Given the description of an element on the screen output the (x, y) to click on. 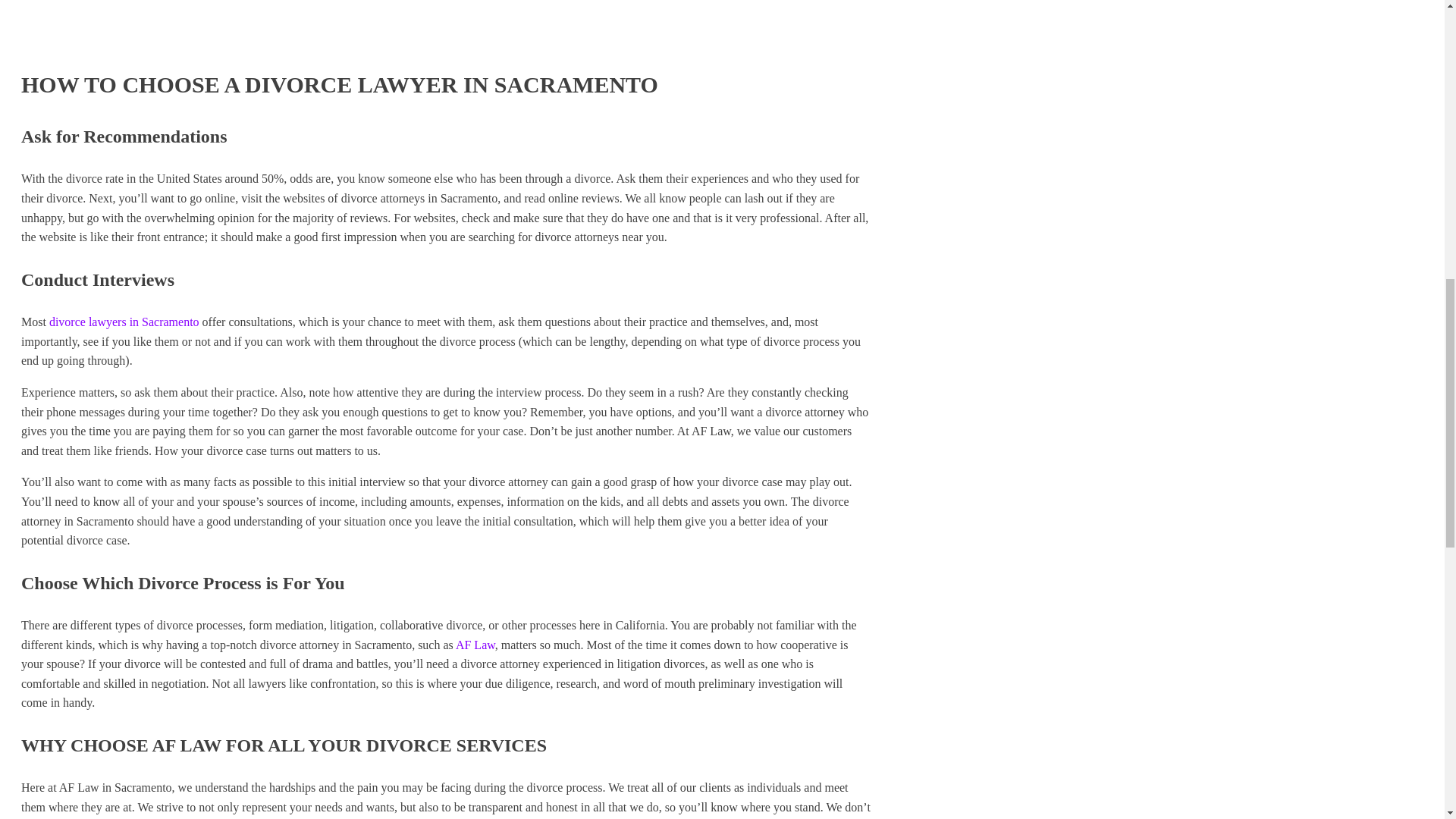
divorce lawyers in Sacramento (124, 321)
AF Law (475, 644)
